Given the description of an element on the screen output the (x, y) to click on. 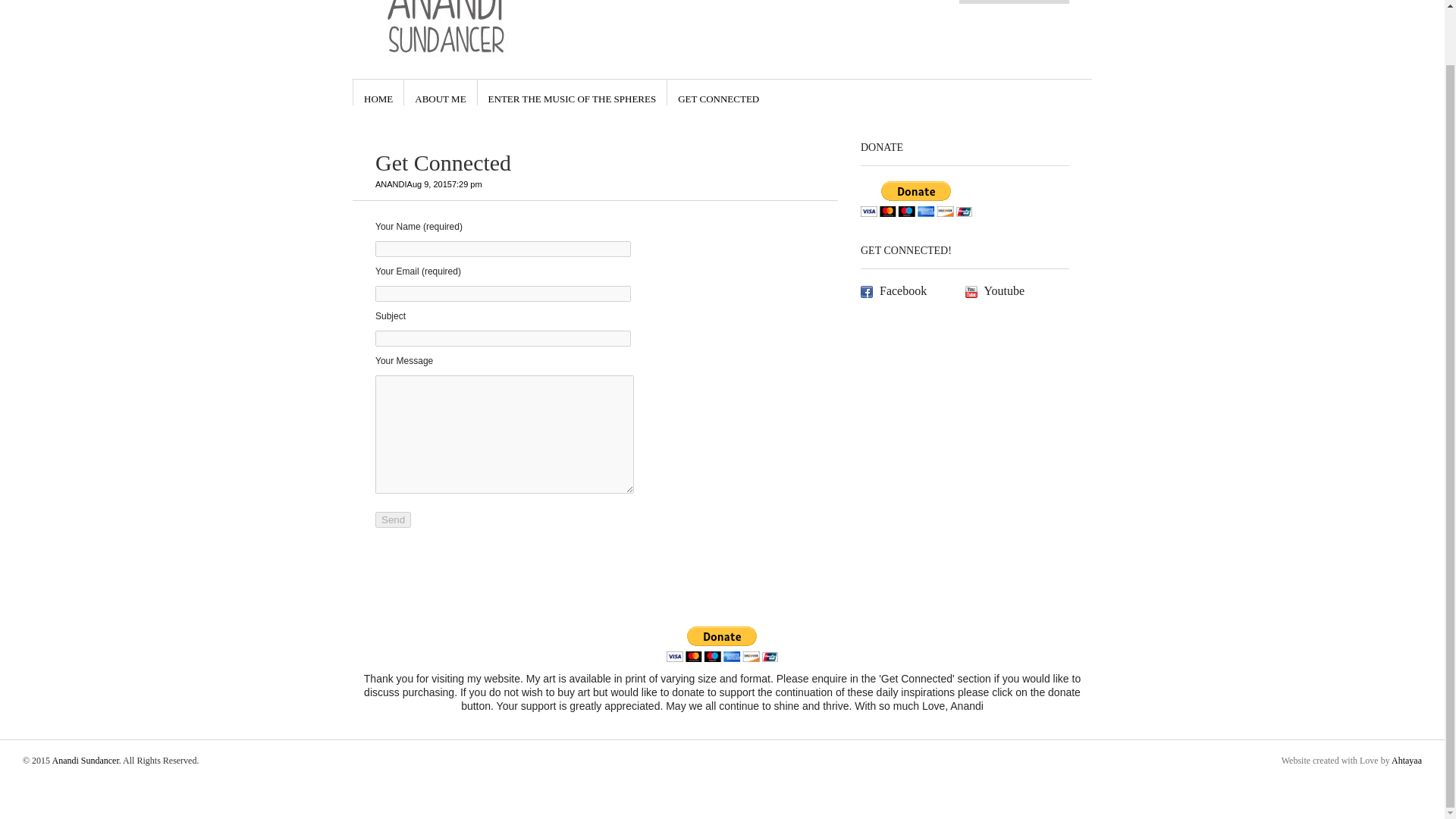
Send (392, 519)
Ahtayaa (1406, 760)
Posts by Anandi (391, 184)
HOME (378, 92)
Youtube (1015, 291)
ANANDI (391, 184)
ABOUT ME (439, 92)
ENTER THE MUSIC OF THE SPHERES (571, 92)
GET CONNECTED (718, 92)
Search (1005, 0)
